Given the description of an element on the screen output the (x, y) to click on. 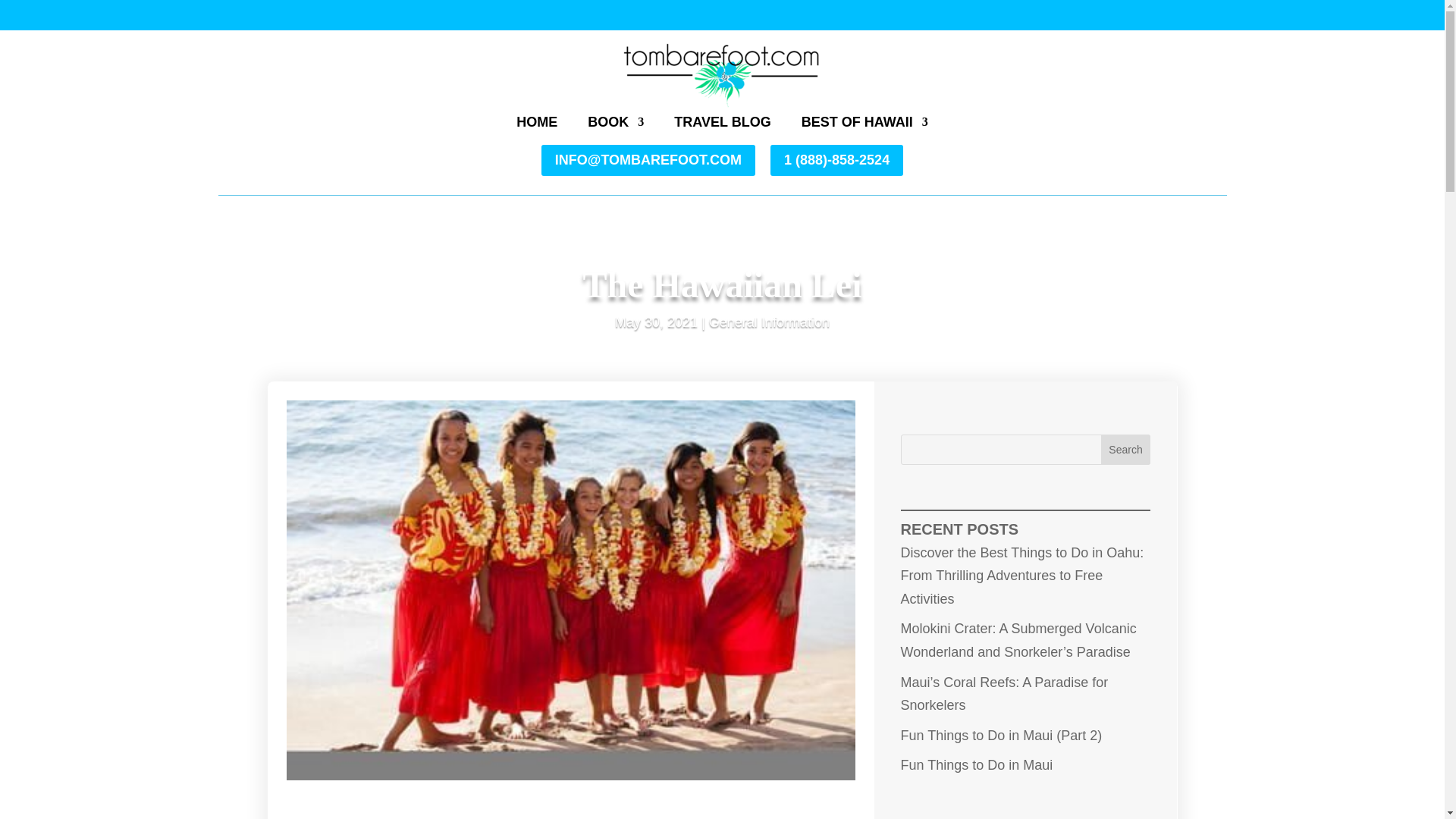
HOME (536, 125)
BEST OF HAWAII (865, 125)
tomlogosbluefinal (721, 75)
BOOK (615, 125)
Fun Things to Do in Maui (976, 765)
General Information (769, 322)
Search (1125, 449)
TRAVEL BLOG (722, 125)
